Given the description of an element on the screen output the (x, y) to click on. 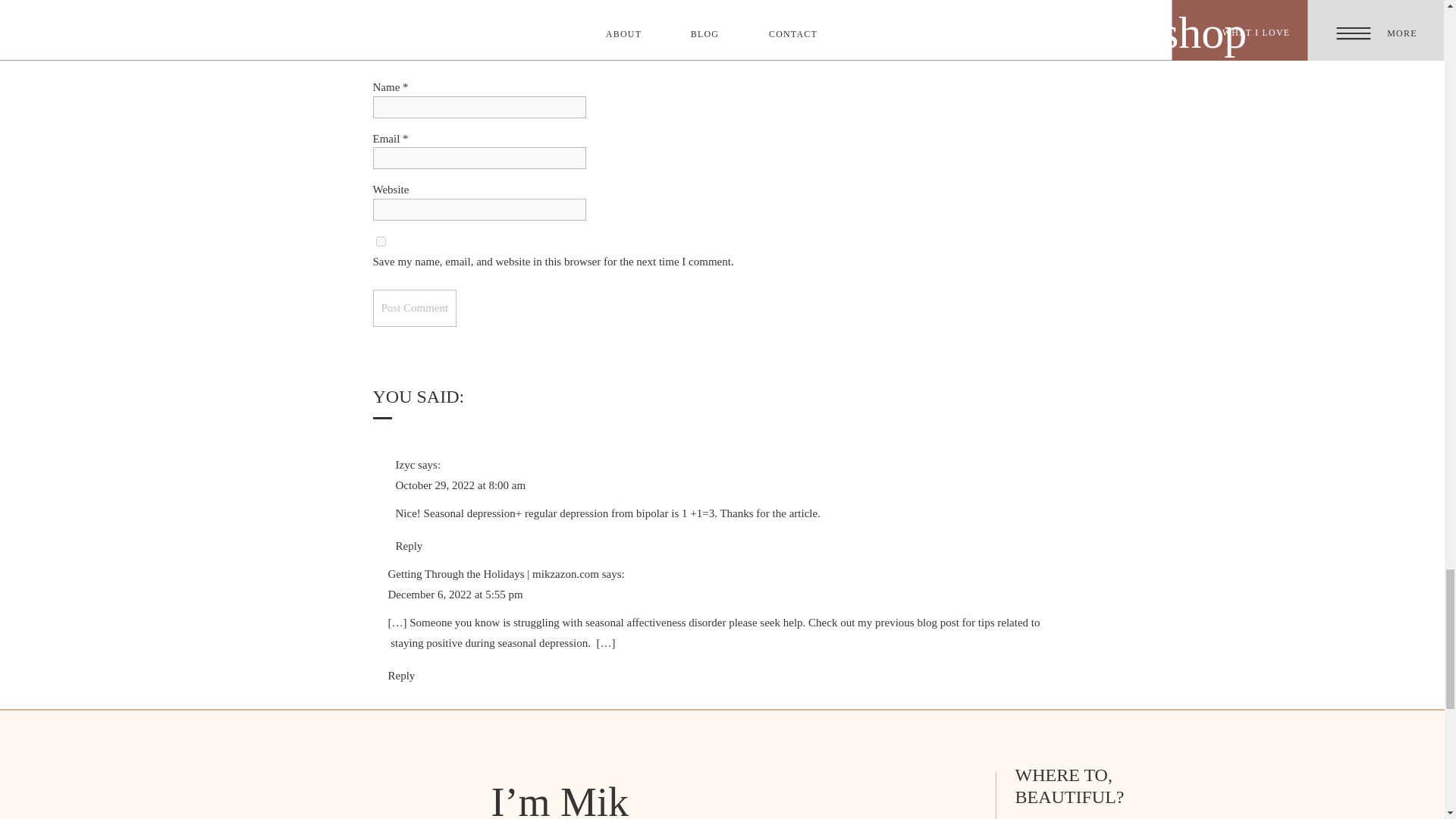
Post Comment (414, 307)
yes (380, 241)
